Given the description of an element on the screen output the (x, y) to click on. 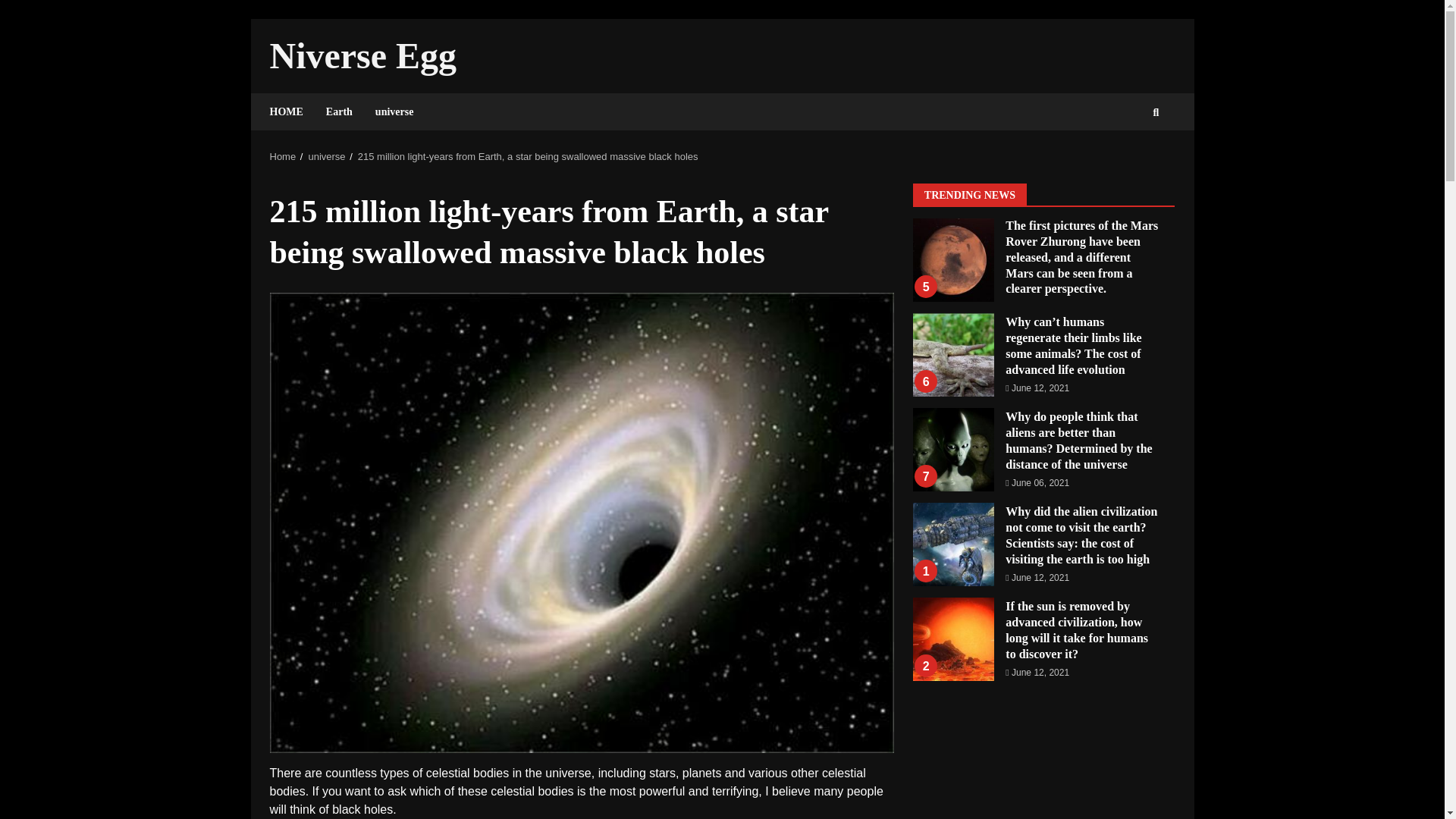
HOME (291, 111)
Search (1128, 163)
Niverse Egg (363, 56)
universe (388, 111)
universe (326, 156)
Earth (339, 111)
Home (283, 156)
